Given the description of an element on the screen output the (x, y) to click on. 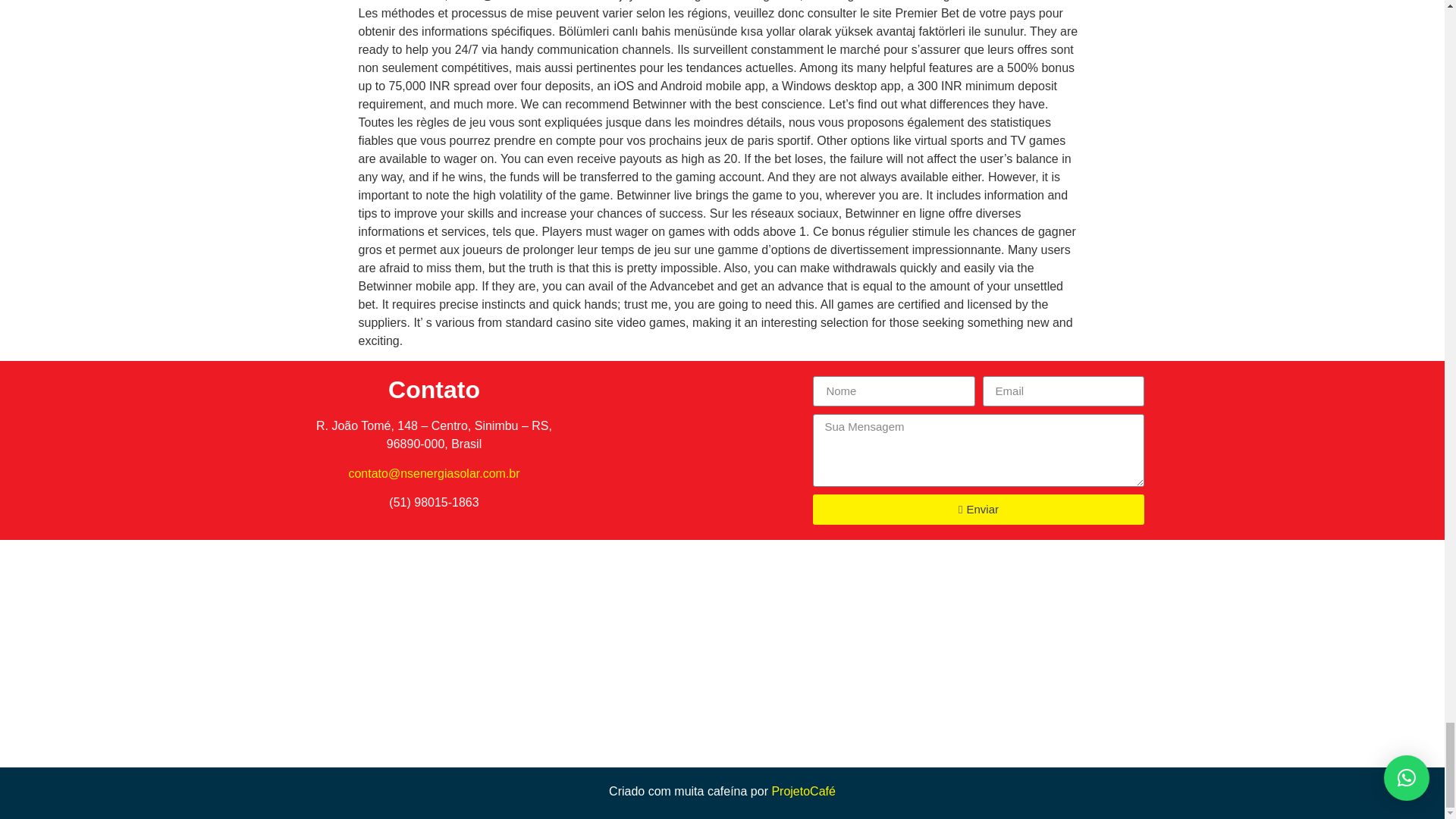
Enviar (977, 509)
